Given the description of an element on the screen output the (x, y) to click on. 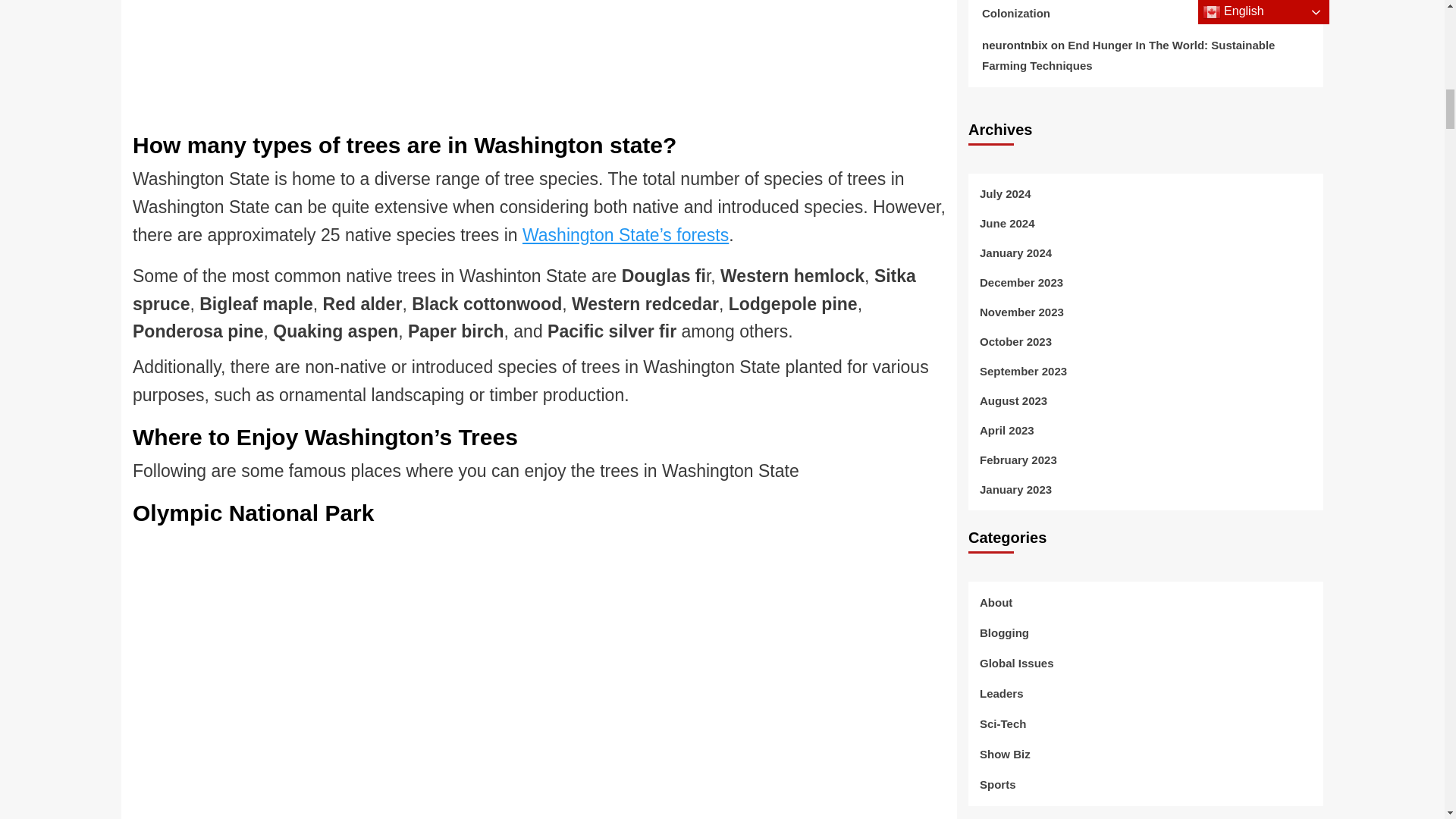
Trees in Washington State: Learn How To Identify 2 (520, 58)
